Given the description of an element on the screen output the (x, y) to click on. 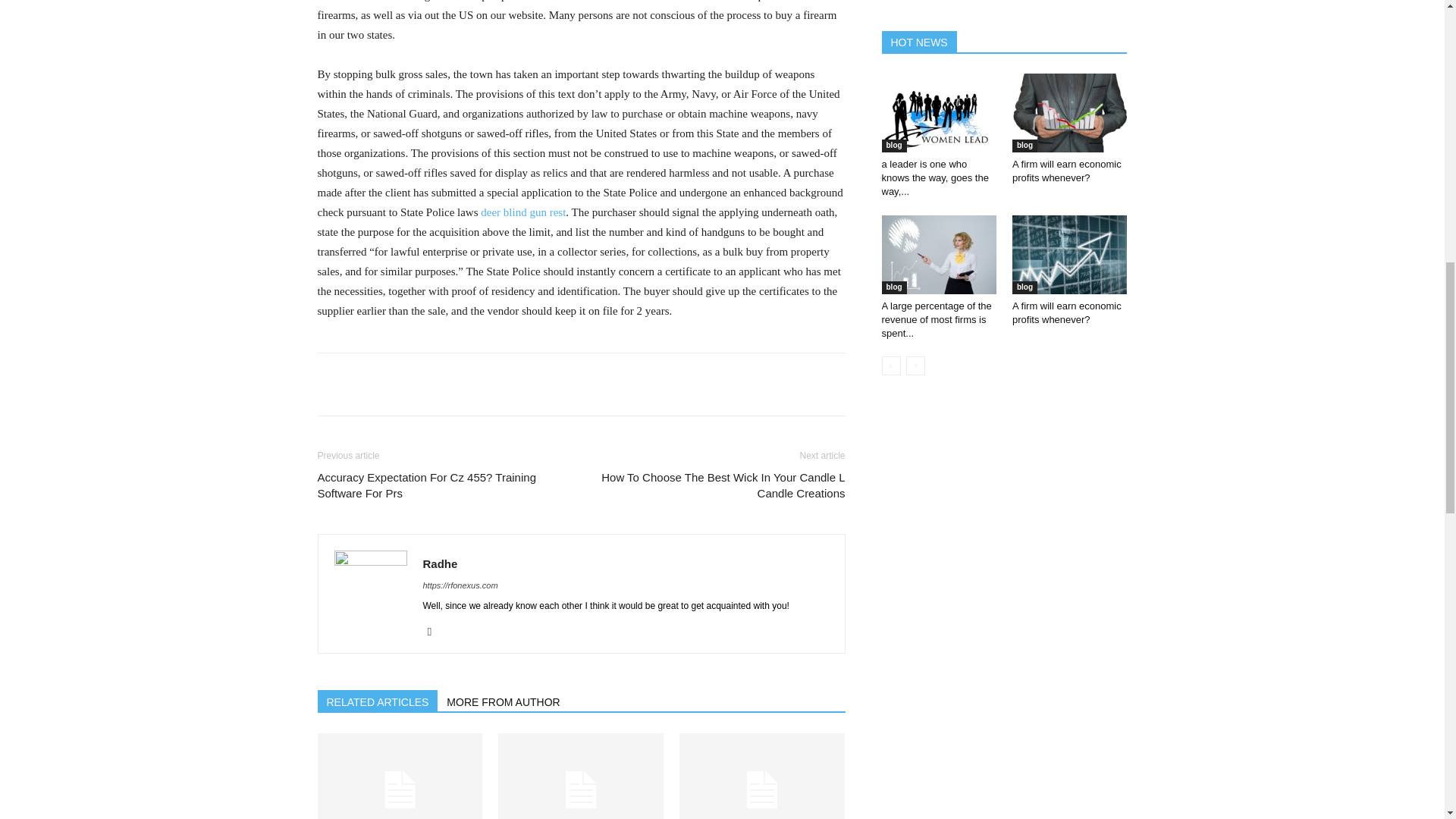
Dog Provides St  Cloud, Mn Space (761, 776)
Xing (435, 631)
